Given the description of an element on the screen output the (x, y) to click on. 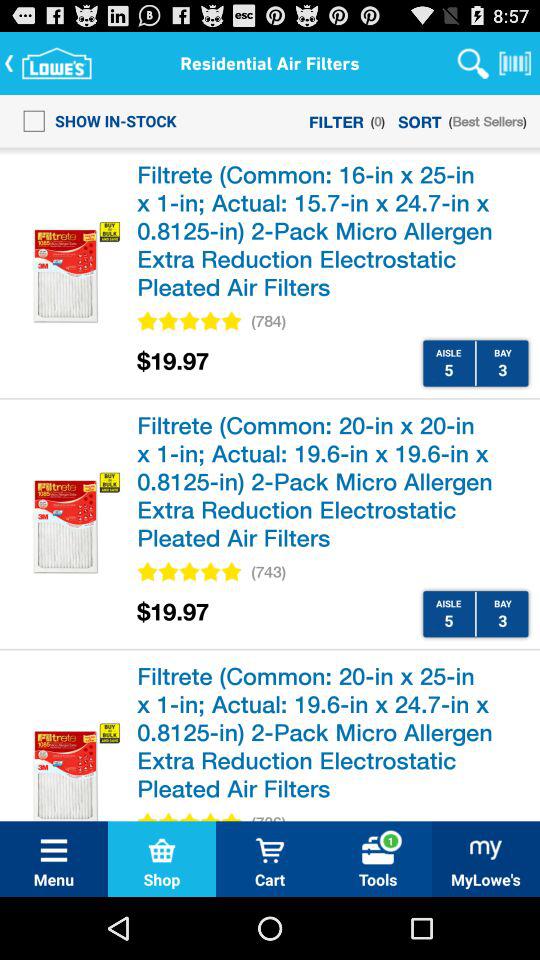
select show instock (94, 120)
select the first icon which is from bottom right corner (485, 850)
